Given the description of an element on the screen output the (x, y) to click on. 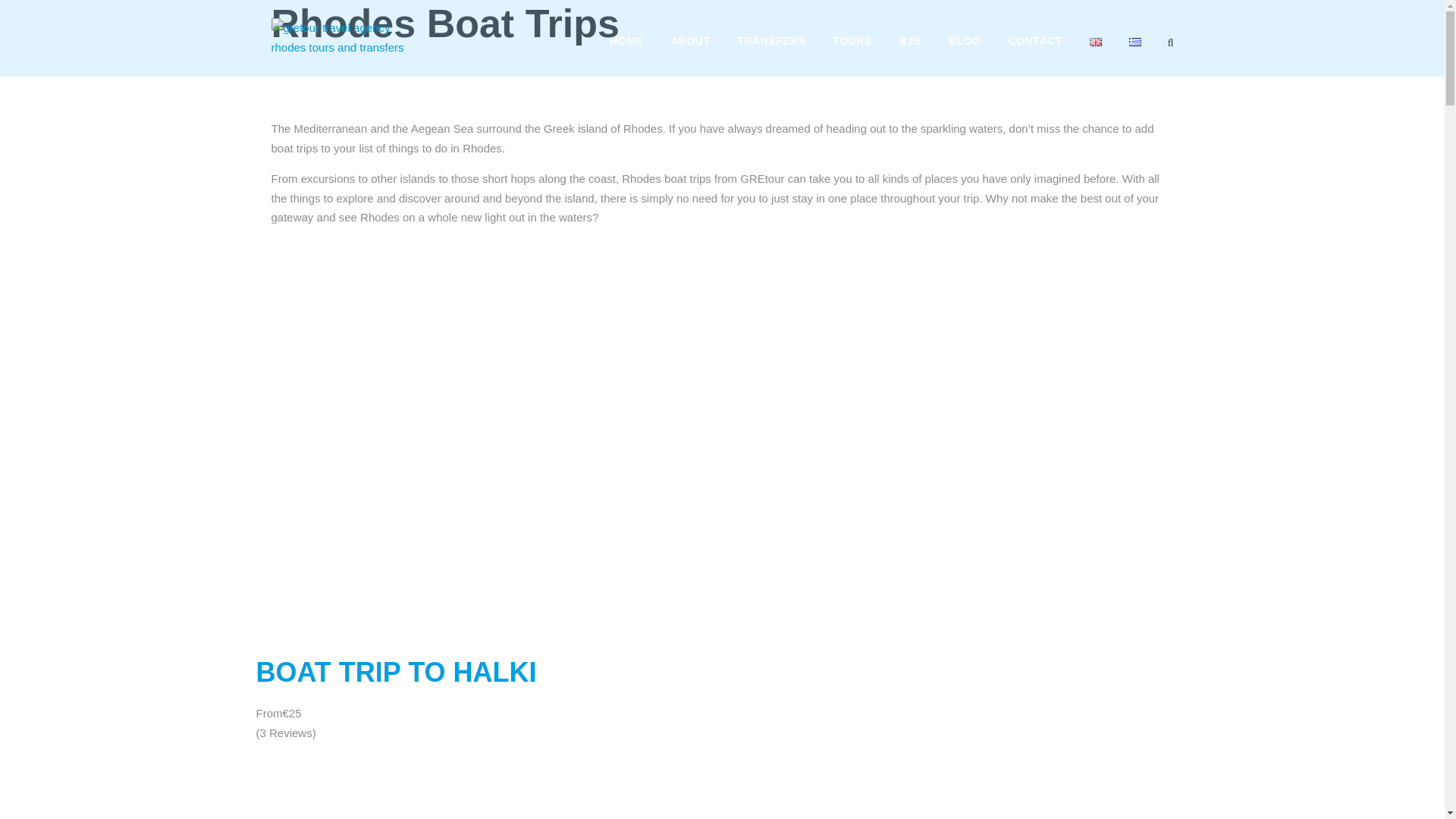
B2B (910, 44)
TRANSFERS (772, 44)
TOURS (852, 44)
LOGO-gretour-01 (346, 37)
CONTACT (1035, 44)
ABOUT (689, 44)
BOAT TRIP TO HALKI (396, 671)
HOME (626, 44)
BLOG (964, 44)
